Given the description of an element on the screen output the (x, y) to click on. 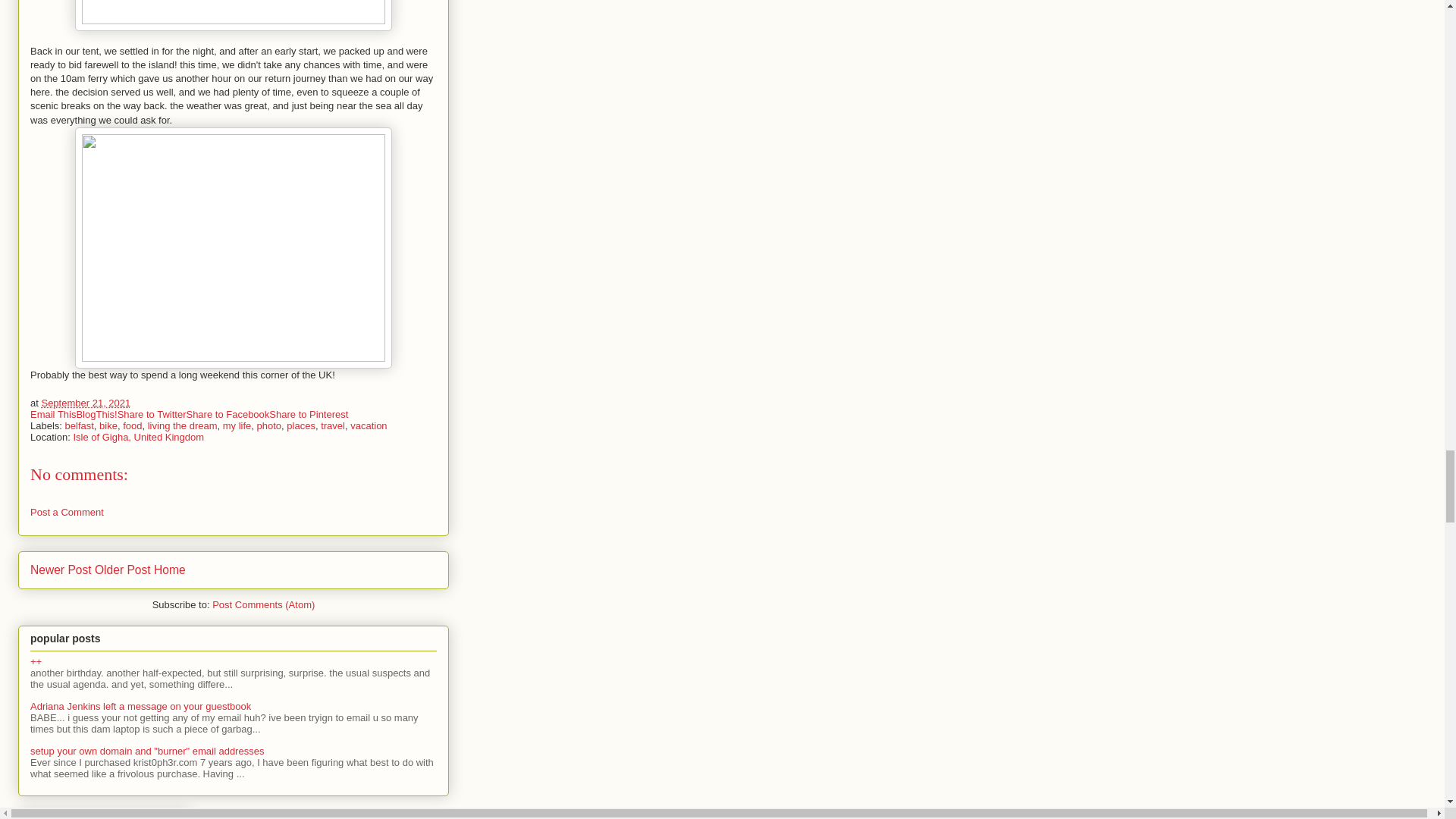
Adriana Jenkins left a message on your guestbook (140, 706)
belfast (79, 425)
Isle of Gigha, United Kingdom (137, 436)
living the dream (182, 425)
Home (170, 569)
Share to Facebook (227, 413)
Share to Facebook (227, 413)
travel (332, 425)
BlogThis! (95, 413)
Email This (52, 413)
vacation (368, 425)
Email This (52, 413)
Share to Twitter (151, 413)
Newer Post (60, 569)
places (300, 425)
